Given the description of an element on the screen output the (x, y) to click on. 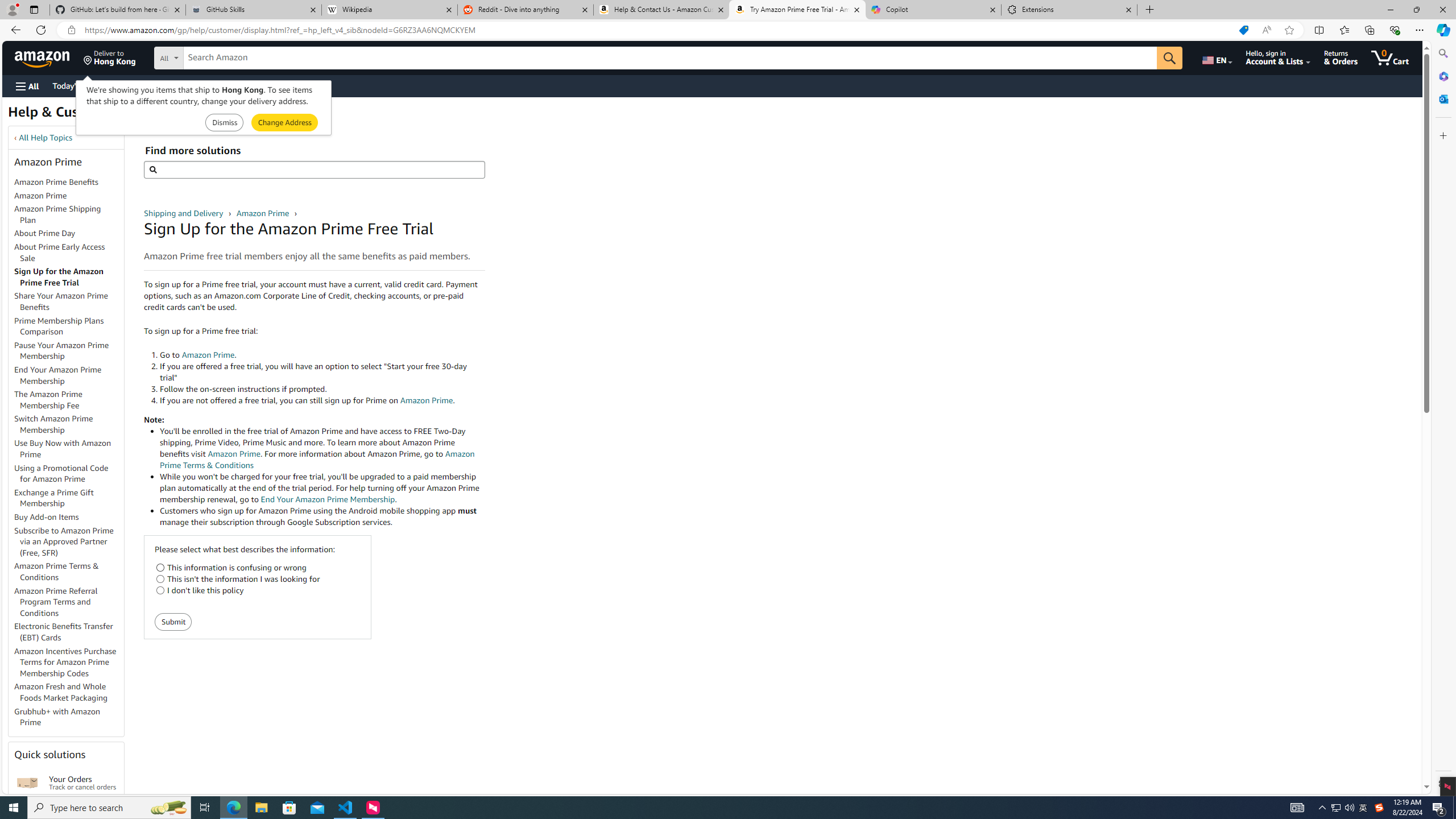
Help & Customer Service (87, 114)
Find more solutions (314, 169)
Exchange a Prime Gift Membership (53, 497)
Use Buy Now with Amazon Prime (63, 449)
Amazon Prime Terms & Conditions (68, 572)
